Given the description of an element on the screen output the (x, y) to click on. 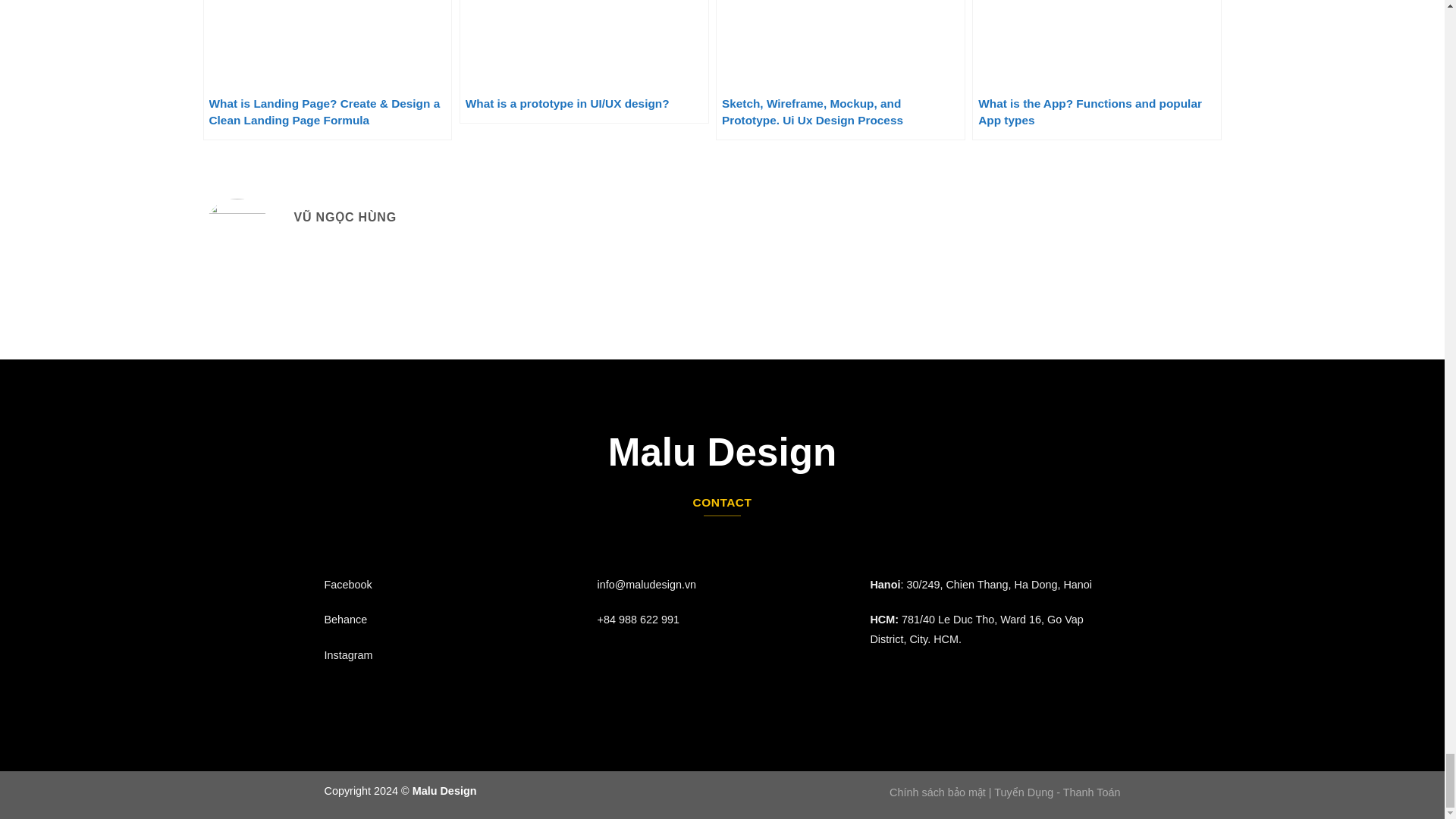
Facebook (348, 584)
CONTACT (722, 501)
What is the App? Functions and popular App types (1096, 70)
What is the App? Functions and popular App types (1096, 70)
